Given the description of an element on the screen output the (x, y) to click on. 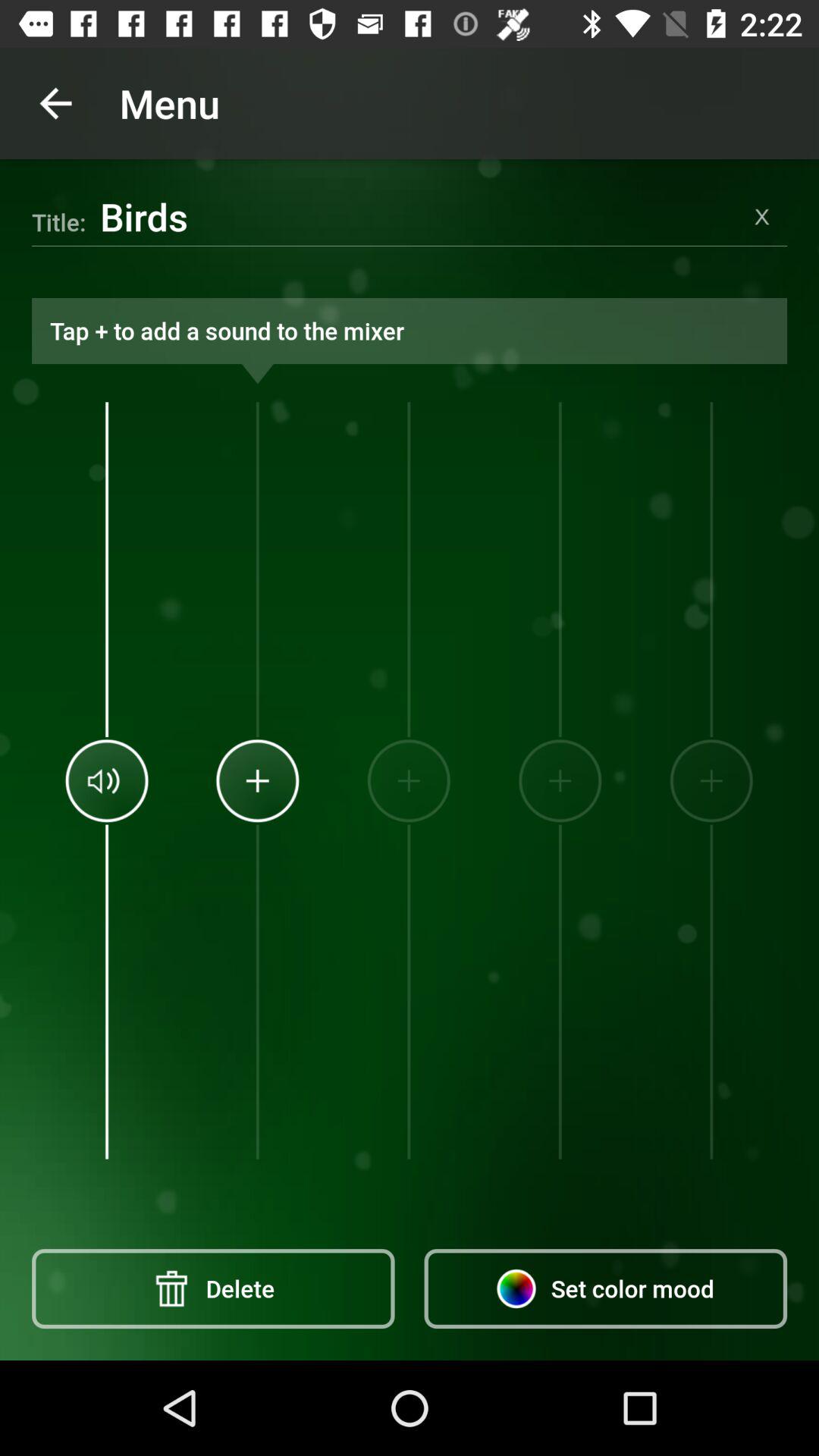
select the icon above delete item (106, 780)
